Given the description of an element on the screen output the (x, y) to click on. 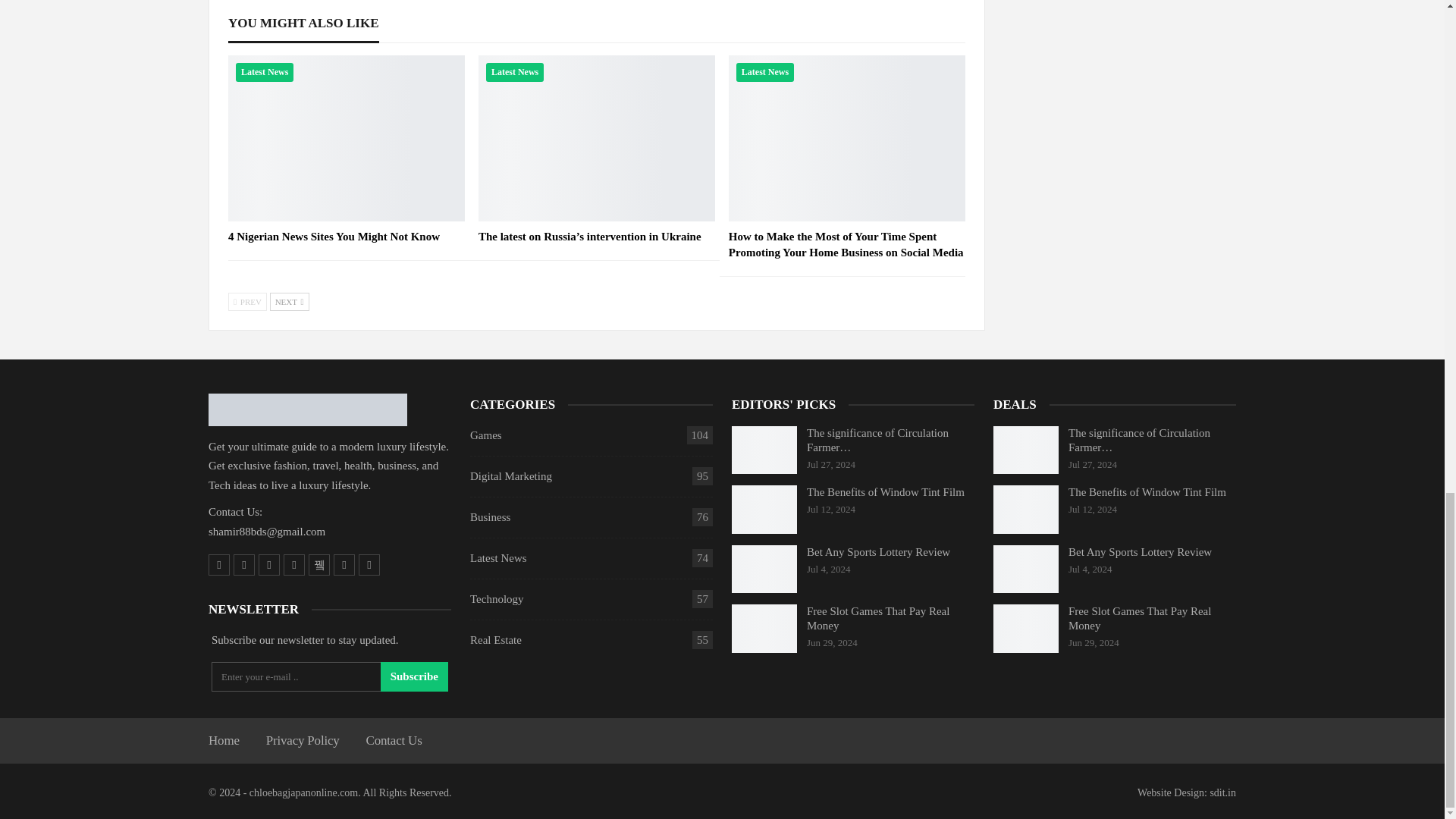
4 Nigerian News Sites You Might Not Know (346, 137)
Next (288, 301)
4 Nigerian News Sites You Might Not Know (333, 236)
Previous (247, 301)
